Given the description of an element on the screen output the (x, y) to click on. 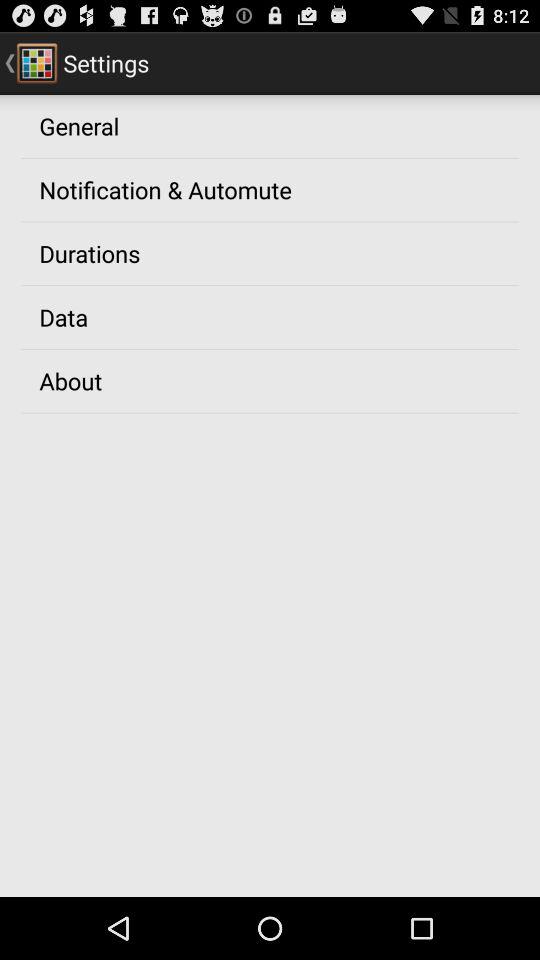
scroll until notification & automute icon (165, 189)
